Given the description of an element on the screen output the (x, y) to click on. 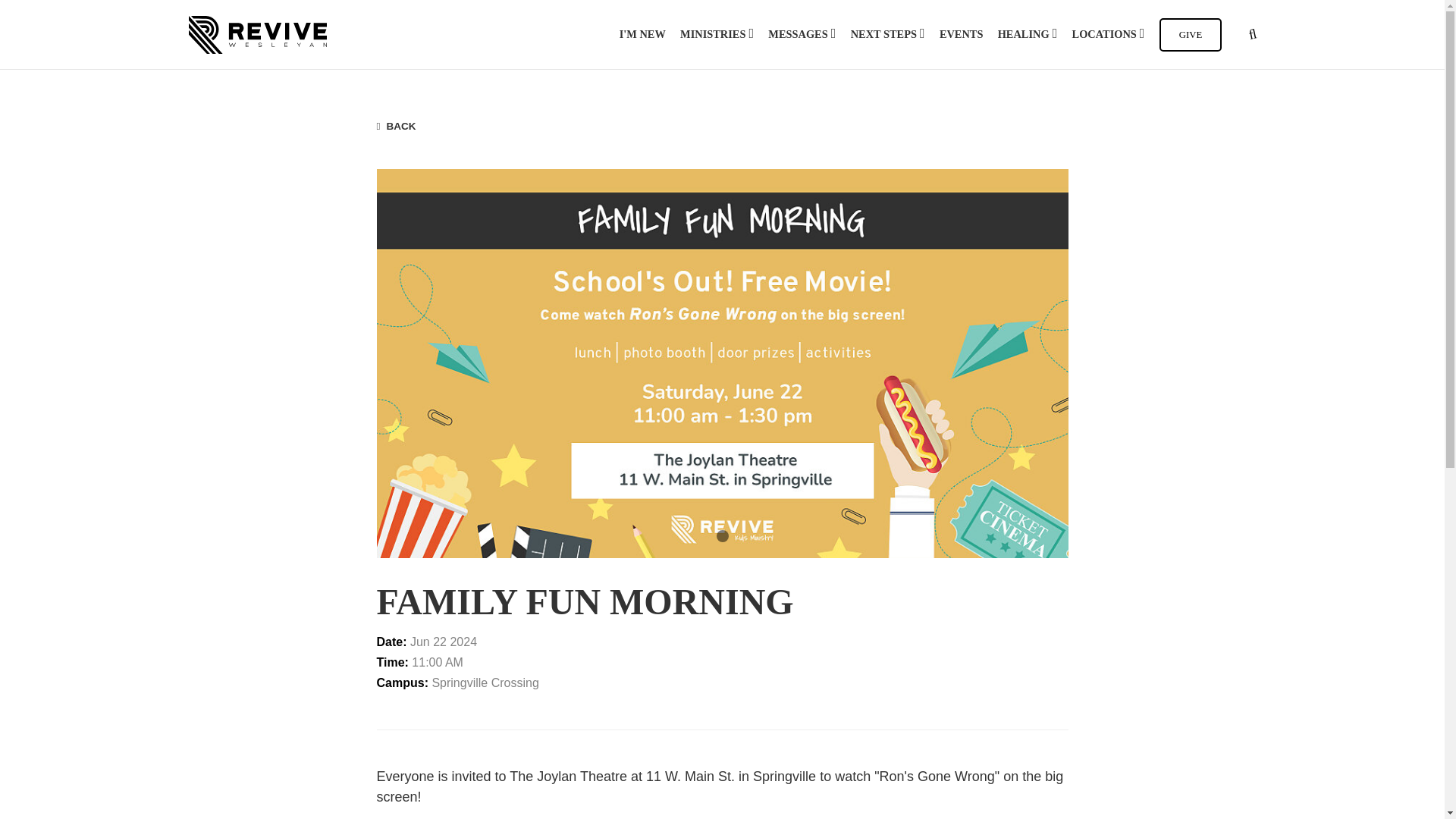
GIVE (1190, 34)
BACK (394, 126)
I'M NEW (642, 34)
HEALING (1027, 34)
NEXT STEPS (887, 34)
MESSAGES (801, 34)
EVENTS (961, 34)
LOCATIONS (1107, 34)
MINISTRIES (716, 34)
